Given the description of an element on the screen output the (x, y) to click on. 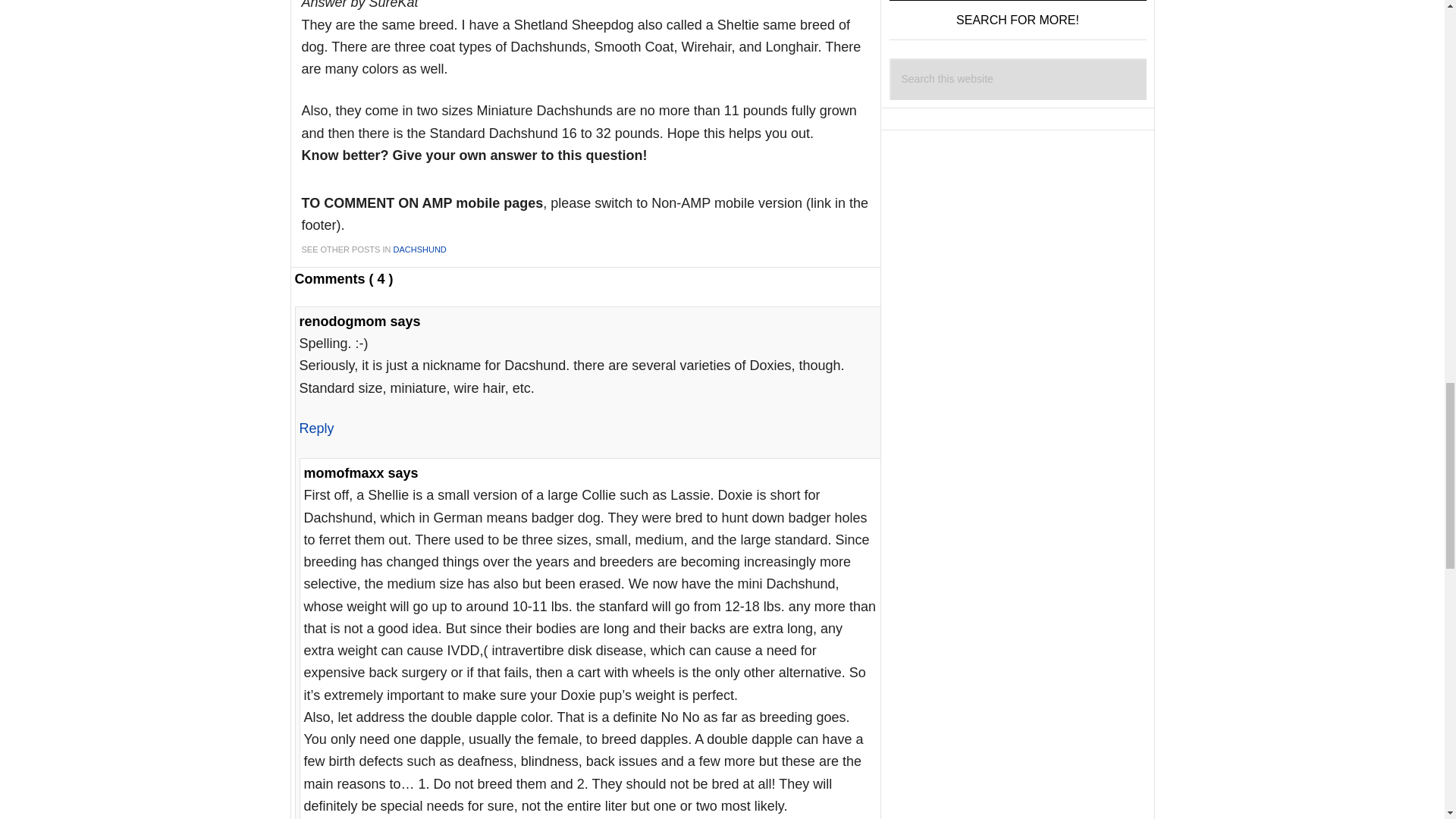
DACHSHUND (419, 248)
Reply (315, 427)
